Given the description of an element on the screen output the (x, y) to click on. 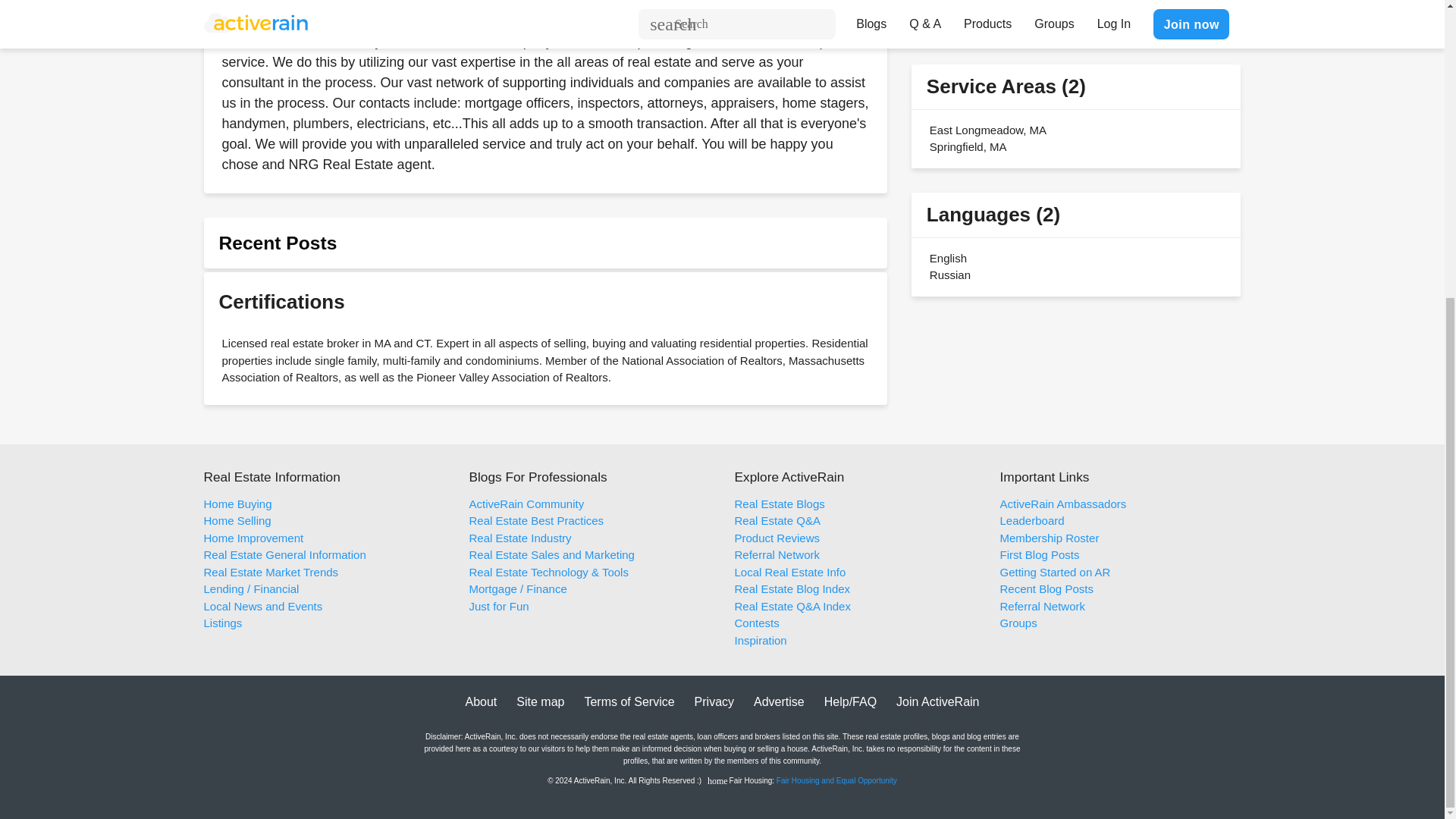
Send Message (1051, 13)
Real Estate Best Practices (536, 520)
Send Message (1051, 13)
Home Selling (236, 520)
ActiveRain Community (525, 503)
Listings (222, 622)
Home Buying (236, 503)
Home Improvement (252, 537)
Local News and Events (262, 605)
Real Estate General Information (284, 554)
